Given the description of an element on the screen output the (x, y) to click on. 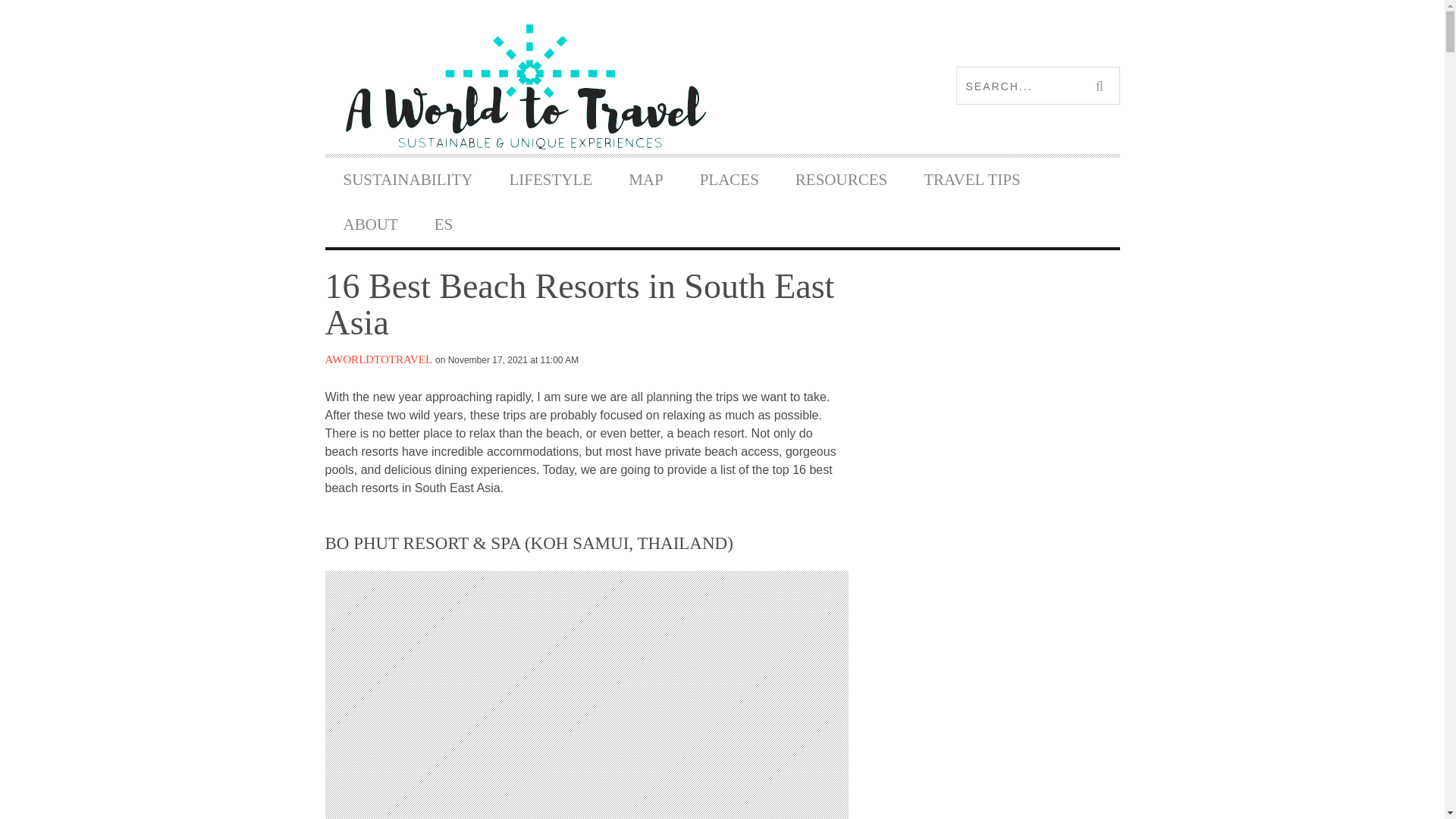
MAP (645, 179)
SUSTAINABILITY (407, 179)
A World to Travel (523, 85)
TRAVEL TIPS (971, 179)
PLACES (729, 179)
Posts by aworldtotravel (378, 358)
LIFESTYLE (550, 179)
RESOURCES (841, 179)
